Given the description of an element on the screen output the (x, y) to click on. 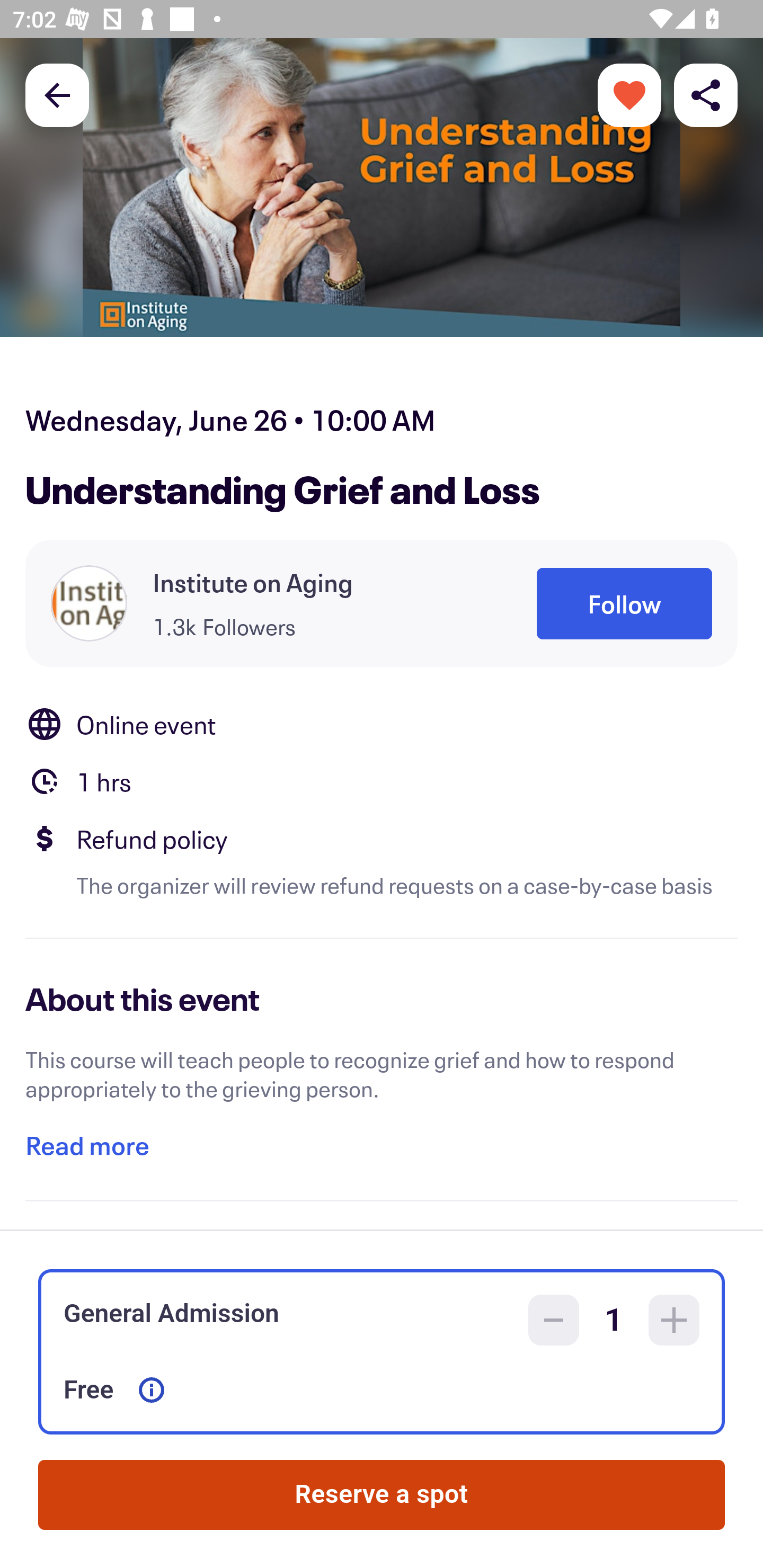
Back (57, 94)
More (629, 94)
Share (705, 94)
Institute on Aging (252, 582)
Organizer profile picture (89, 602)
Follow (623, 603)
Location Online event (381, 724)
Read more (87, 1145)
Decrease (553, 1320)
Increase (673, 1320)
Show more information (151, 1389)
Reserve a spot (381, 1494)
